Given the description of an element on the screen output the (x, y) to click on. 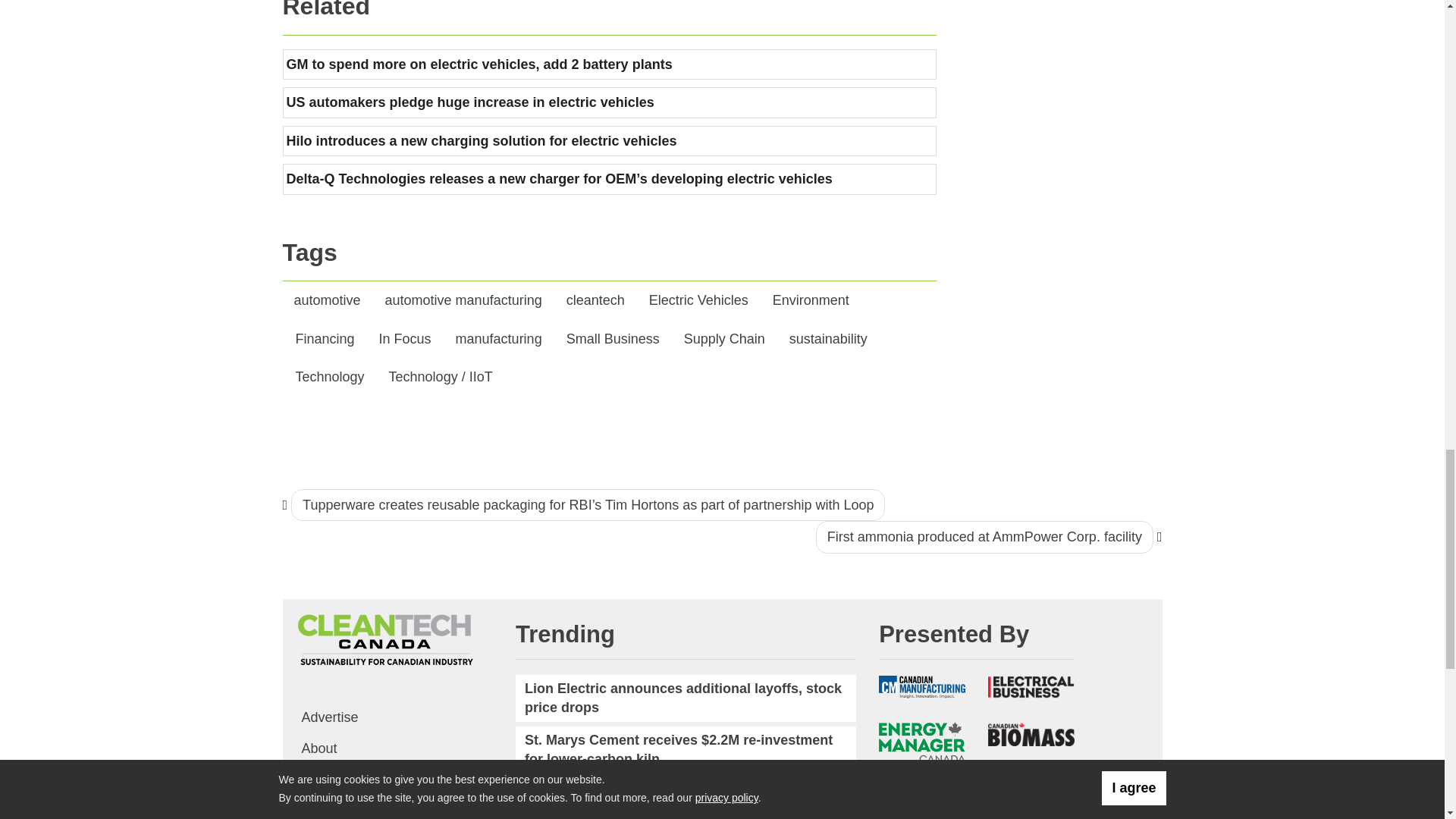
manufacturing (498, 339)
Electric Vehicles (698, 300)
About (395, 748)
sustainability (828, 339)
Supply Chain (724, 339)
automotive manufacturing (463, 300)
Small Business (612, 339)
Contacts (395, 778)
In Focus (405, 339)
Clean Technology Canada (384, 639)
